Given the description of an element on the screen output the (x, y) to click on. 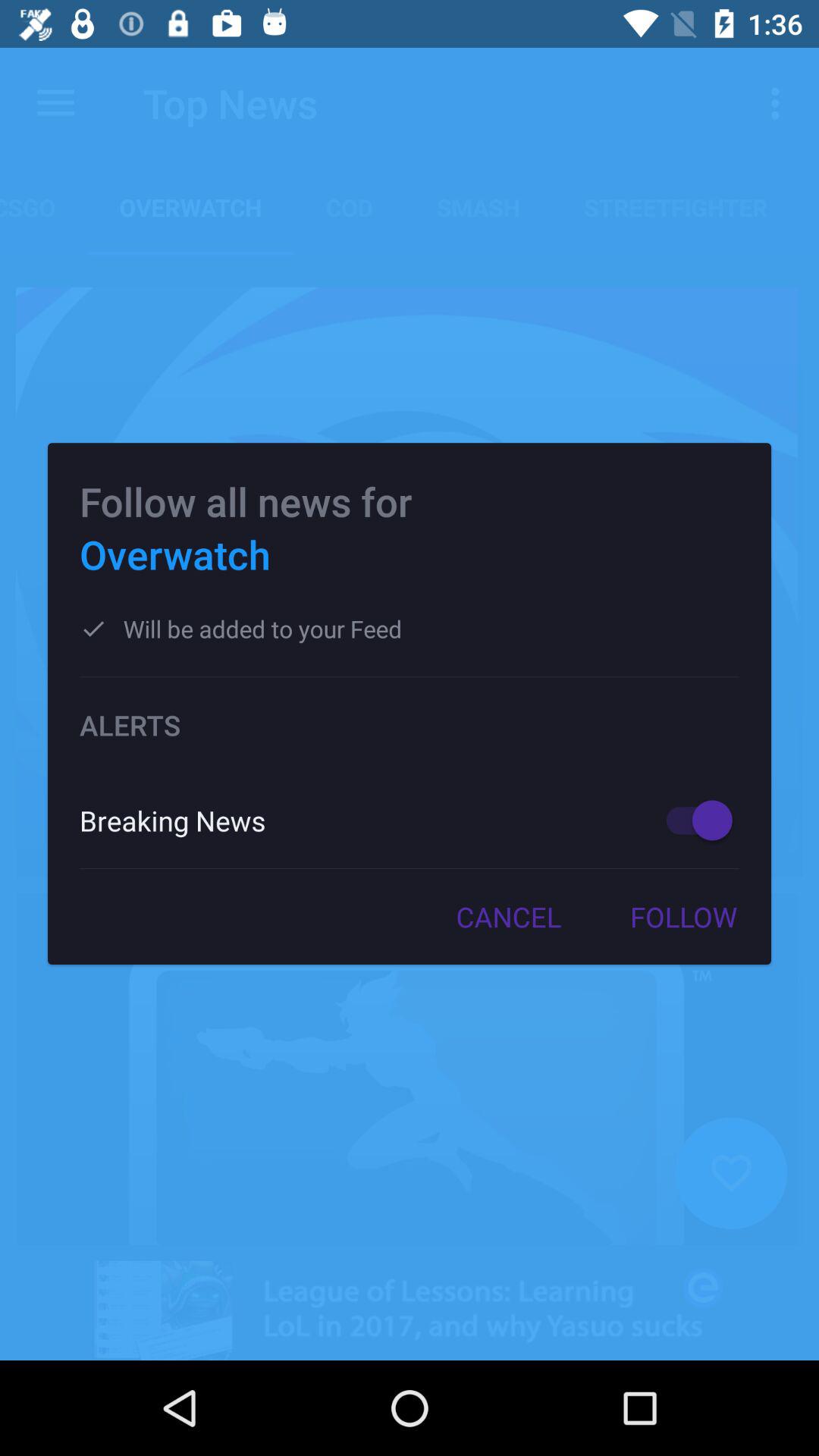
jump to alerts icon (409, 724)
